Given the description of an element on the screen output the (x, y) to click on. 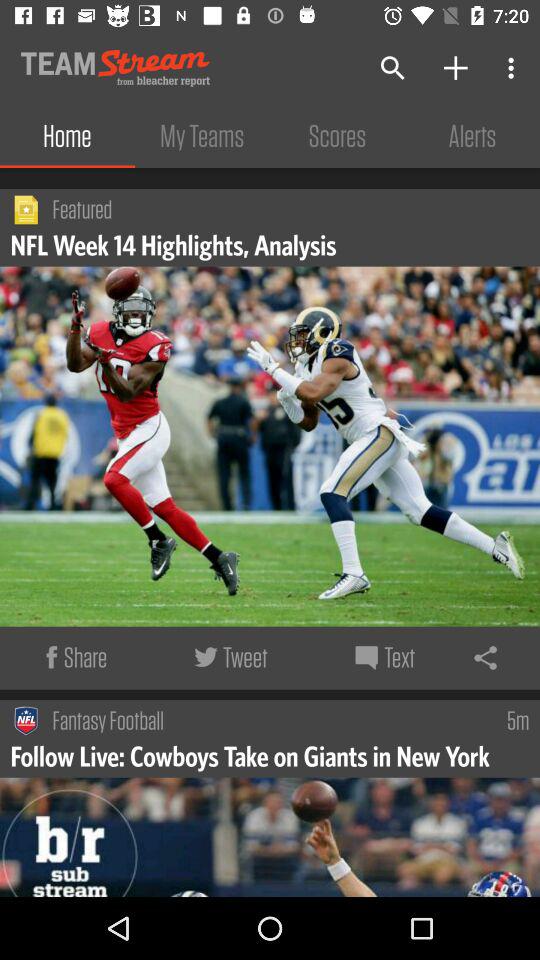
scroll to the follow live cowboys (252, 755)
